Given the description of an element on the screen output the (x, y) to click on. 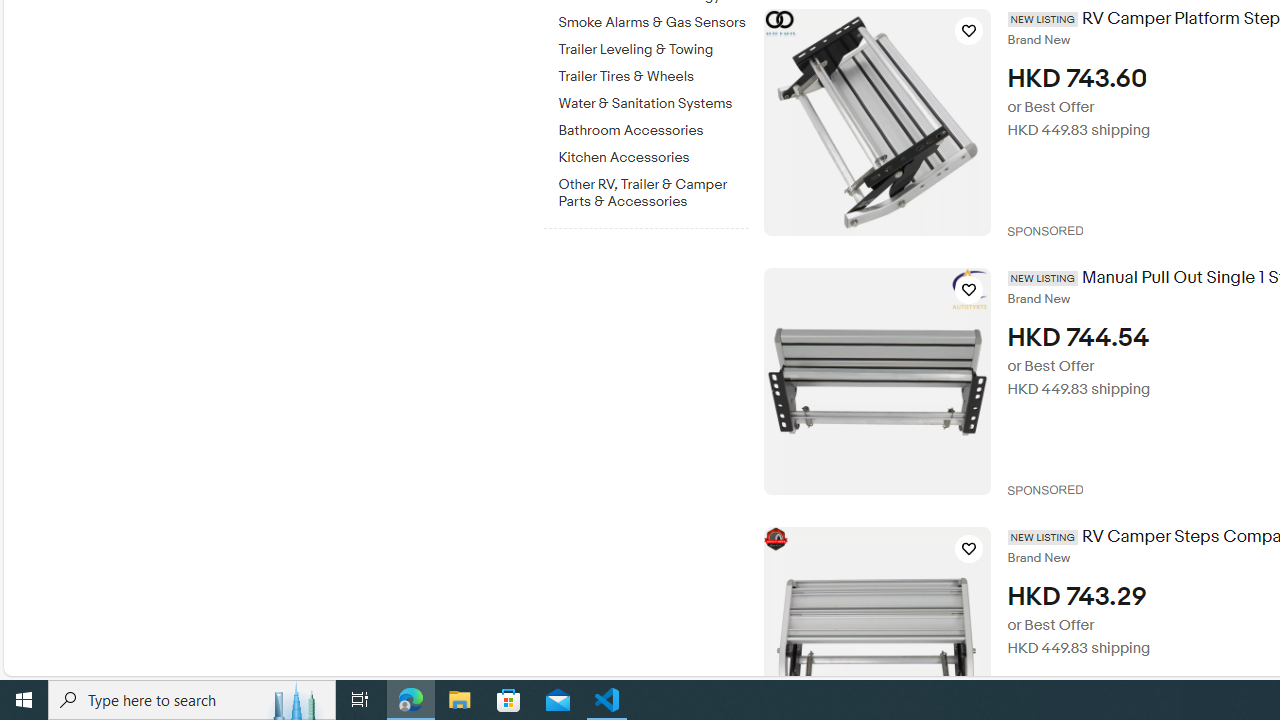
Kitchen Accessories (653, 154)
Kitchen Accessories (653, 158)
Other RV, Trailer & Camper Parts & Accessories (653, 193)
Water & Sanitation Systems (653, 104)
Trailer Leveling & Towing (653, 46)
Trailer Tires & Wheels (653, 77)
Bathroom Accessories (653, 127)
Smoke Alarms & Gas Sensors (653, 23)
Bathroom Accessories (653, 131)
Smoke Alarms & Gas Sensors (653, 19)
Trailer Tires & Wheels (653, 73)
Other RV, Trailer & Camper Parts & Accessories (653, 189)
